Given the description of an element on the screen output the (x, y) to click on. 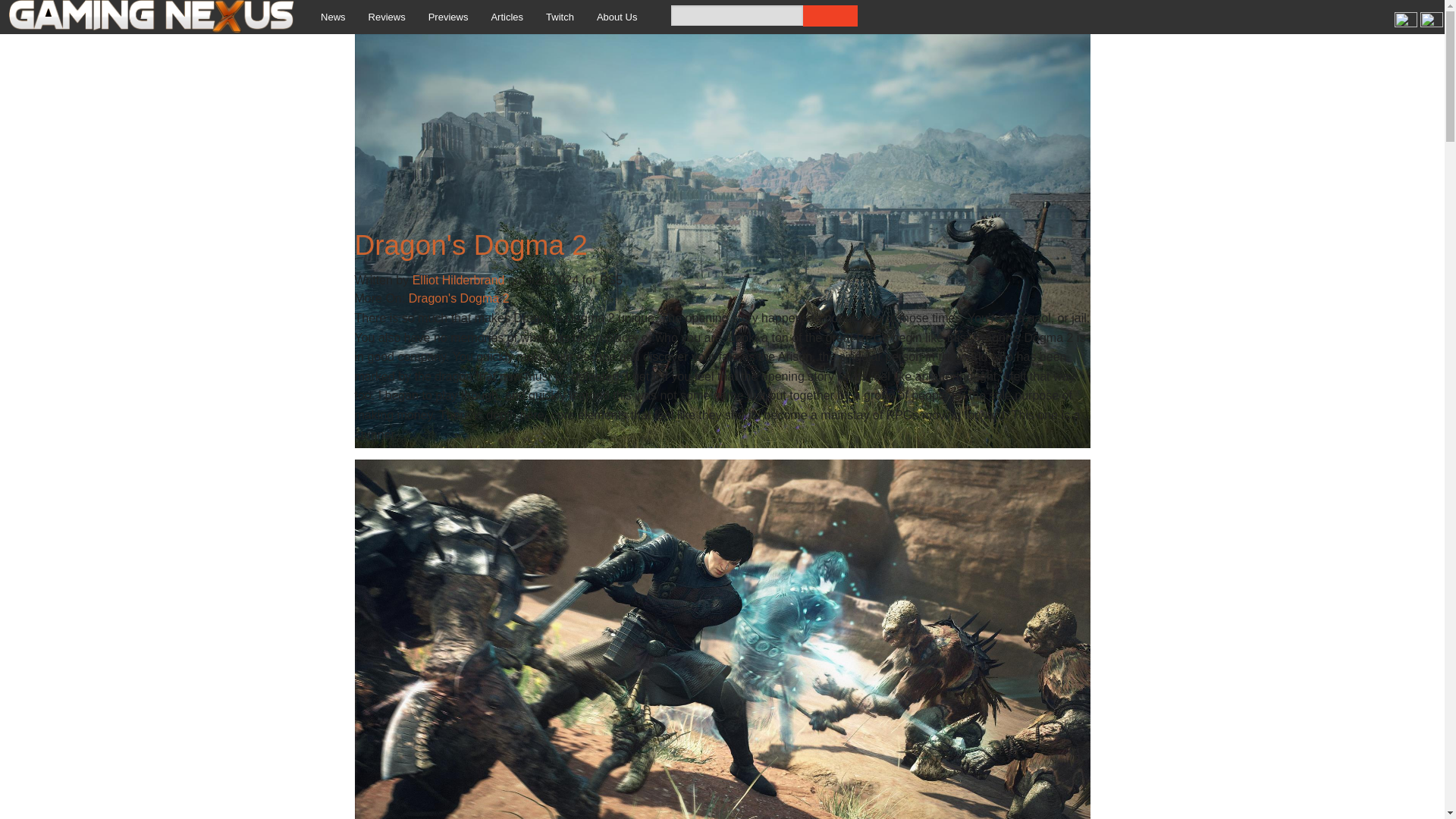
Elliot Hilderbrand (458, 279)
News (332, 17)
About Us (616, 17)
Articles (506, 17)
Dragon's Dogma 2 (459, 297)
Twitch (559, 17)
Previews (448, 17)
Reviews (386, 17)
